Given the description of an element on the screen output the (x, y) to click on. 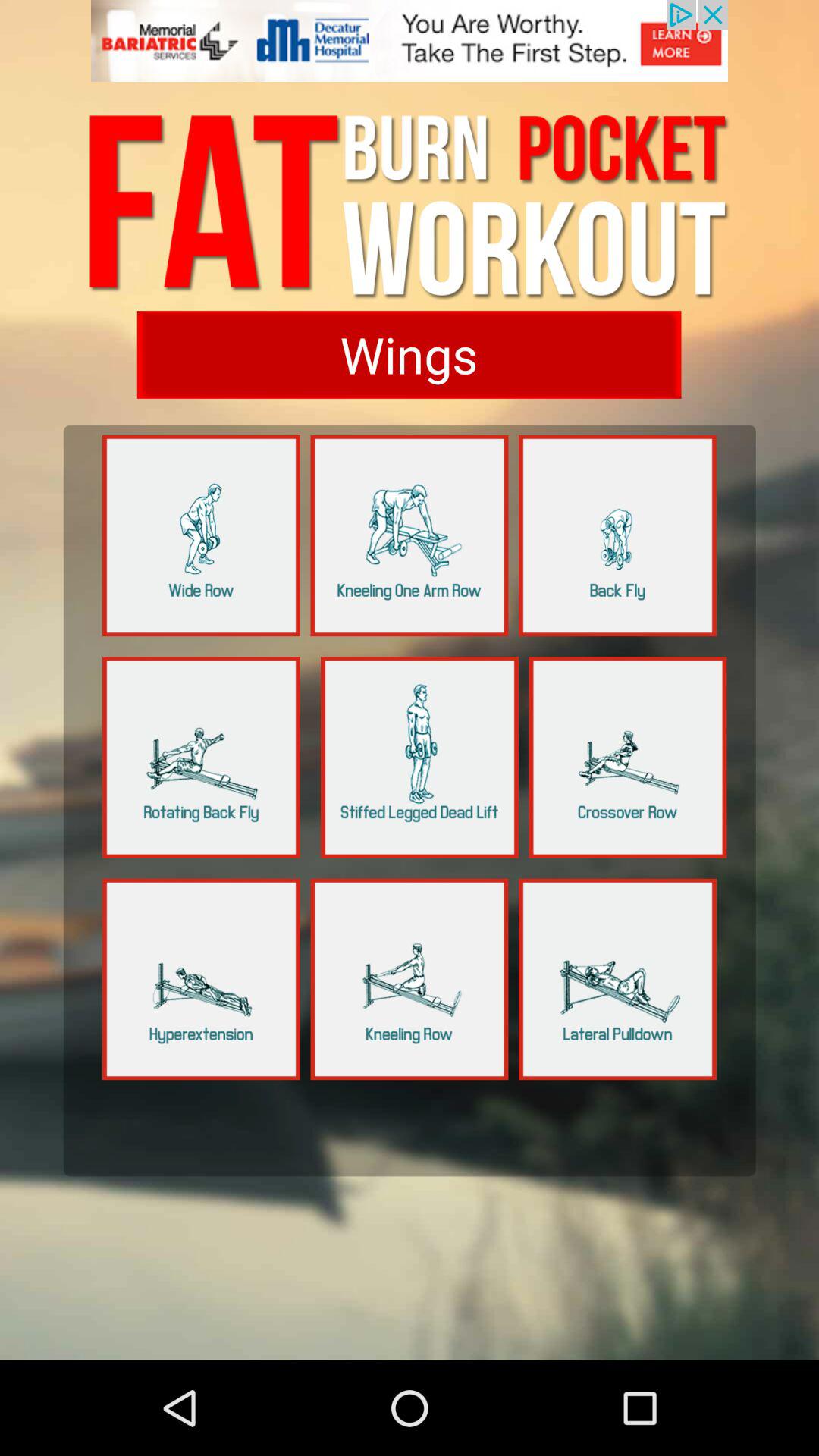
open menu (201, 757)
